Given the description of an element on the screen output the (x, y) to click on. 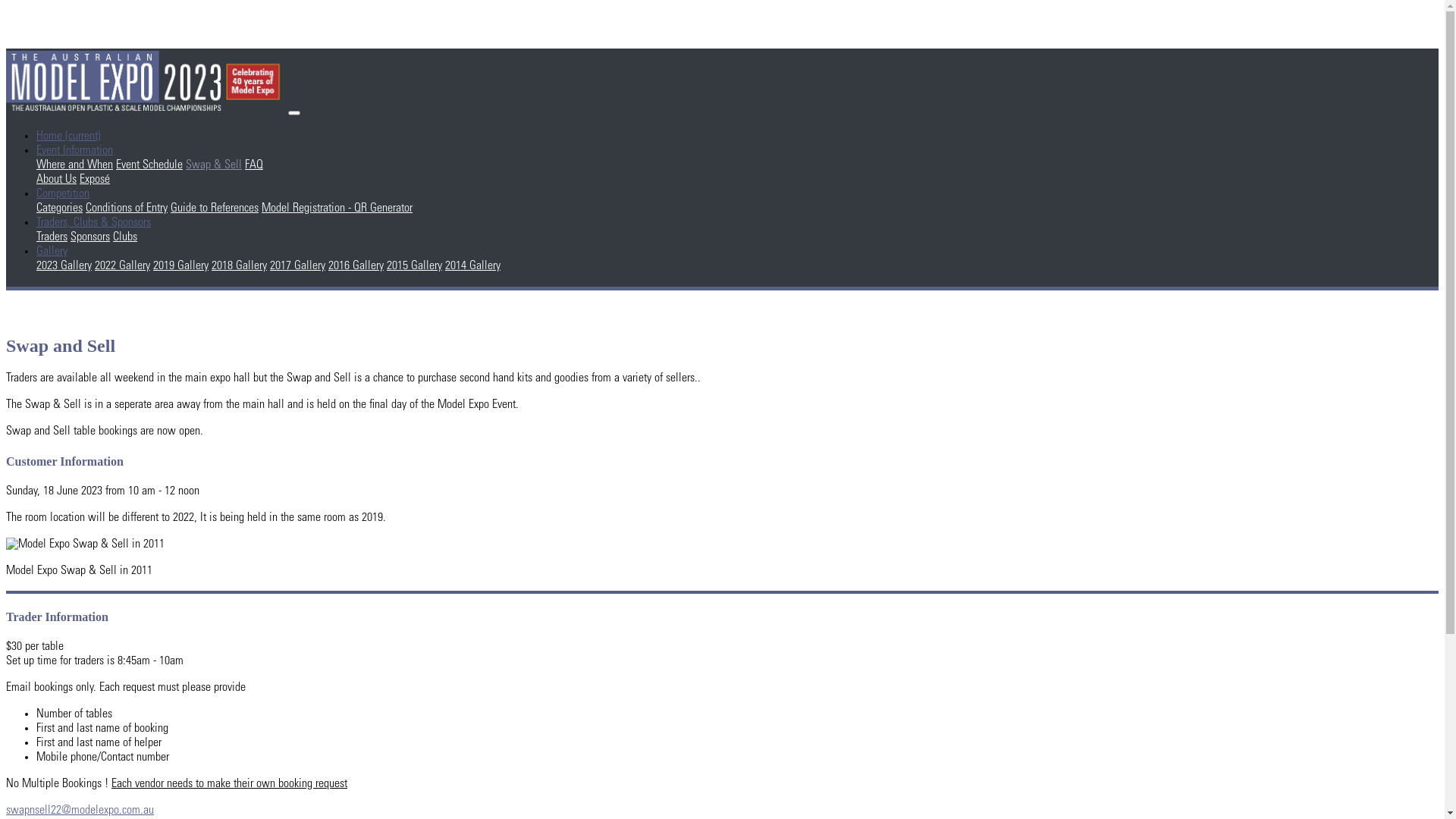
2014 Gallery Element type: text (472, 266)
Model Registration - QR Generator Element type: text (336, 208)
Gallery Element type: text (51, 251)
Event Schedule Element type: text (149, 165)
Event Information Element type: text (74, 150)
Competition Element type: text (62, 194)
Sponsors Element type: text (89, 237)
2017 Gallery Element type: text (297, 266)
Traders Element type: text (51, 237)
Swap & Sell Element type: text (213, 165)
Clubs Element type: text (124, 237)
2019 Gallery Element type: text (180, 266)
Guide to References Element type: text (214, 208)
Traders, Clubs & Sponsors Element type: text (93, 222)
2016 Gallery Element type: text (355, 266)
2018 Gallery Element type: text (238, 266)
About Us Element type: text (56, 179)
FAQ Element type: text (253, 165)
Conditions of Entry Element type: text (126, 208)
2022 Gallery Element type: text (122, 266)
Categories Element type: text (59, 208)
swapnsell22@modelexpo.com.au Element type: text (79, 810)
2015 Gallery Element type: text (414, 266)
2023 Gallery Element type: text (63, 266)
Where and When Element type: text (74, 165)
Home (current) Element type: text (68, 136)
